Given the description of an element on the screen output the (x, y) to click on. 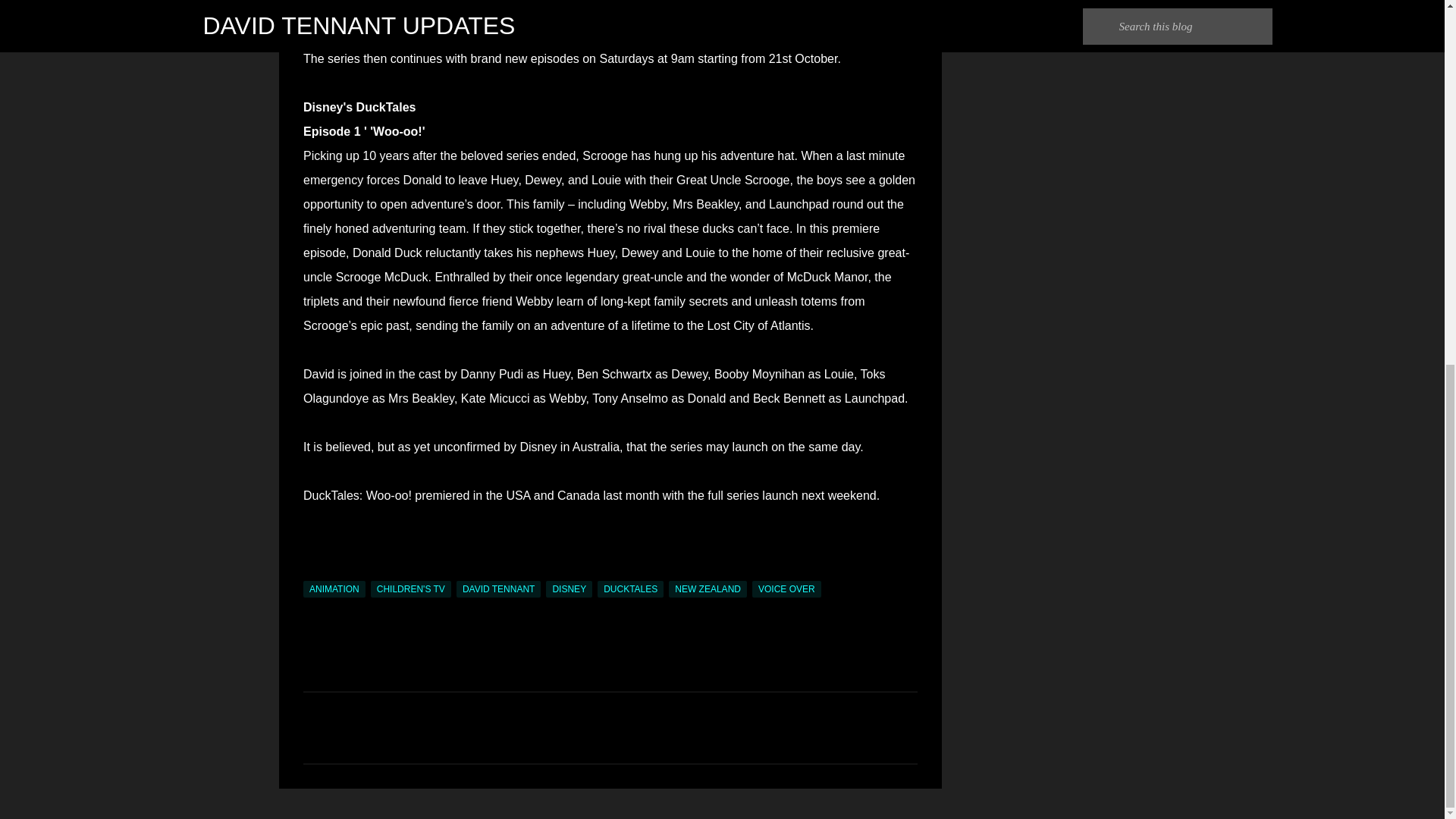
CHILDREN'S TV (411, 588)
ANIMATION (333, 588)
NEW ZEALAND (707, 588)
DAVID TENNANT (499, 588)
DISNEY (569, 588)
VOICE OVER (786, 588)
Email Post (311, 571)
DUCKTALES (629, 588)
